Given the description of an element on the screen output the (x, y) to click on. 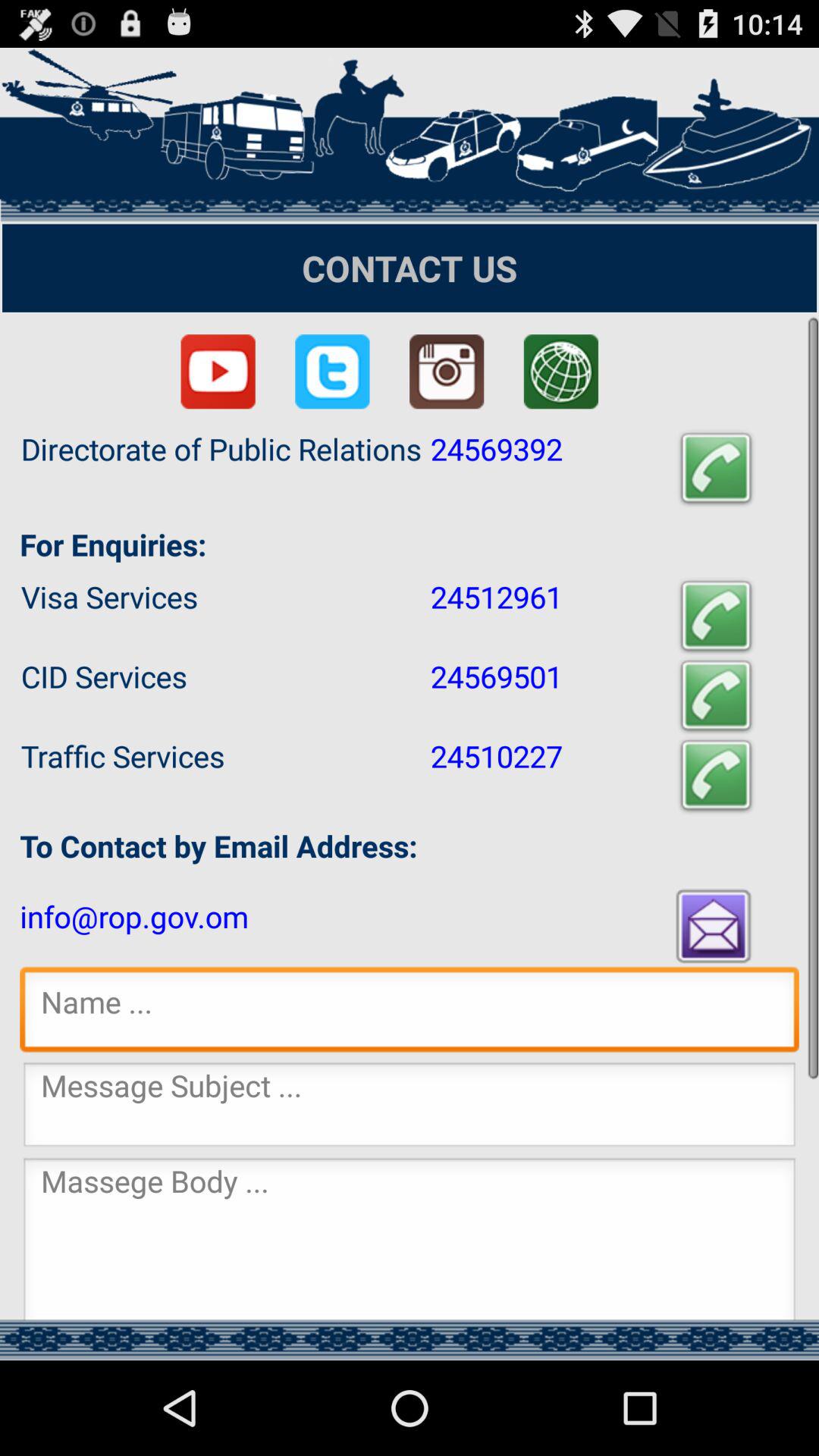
email button (715, 925)
